Given the description of an element on the screen output the (x, y) to click on. 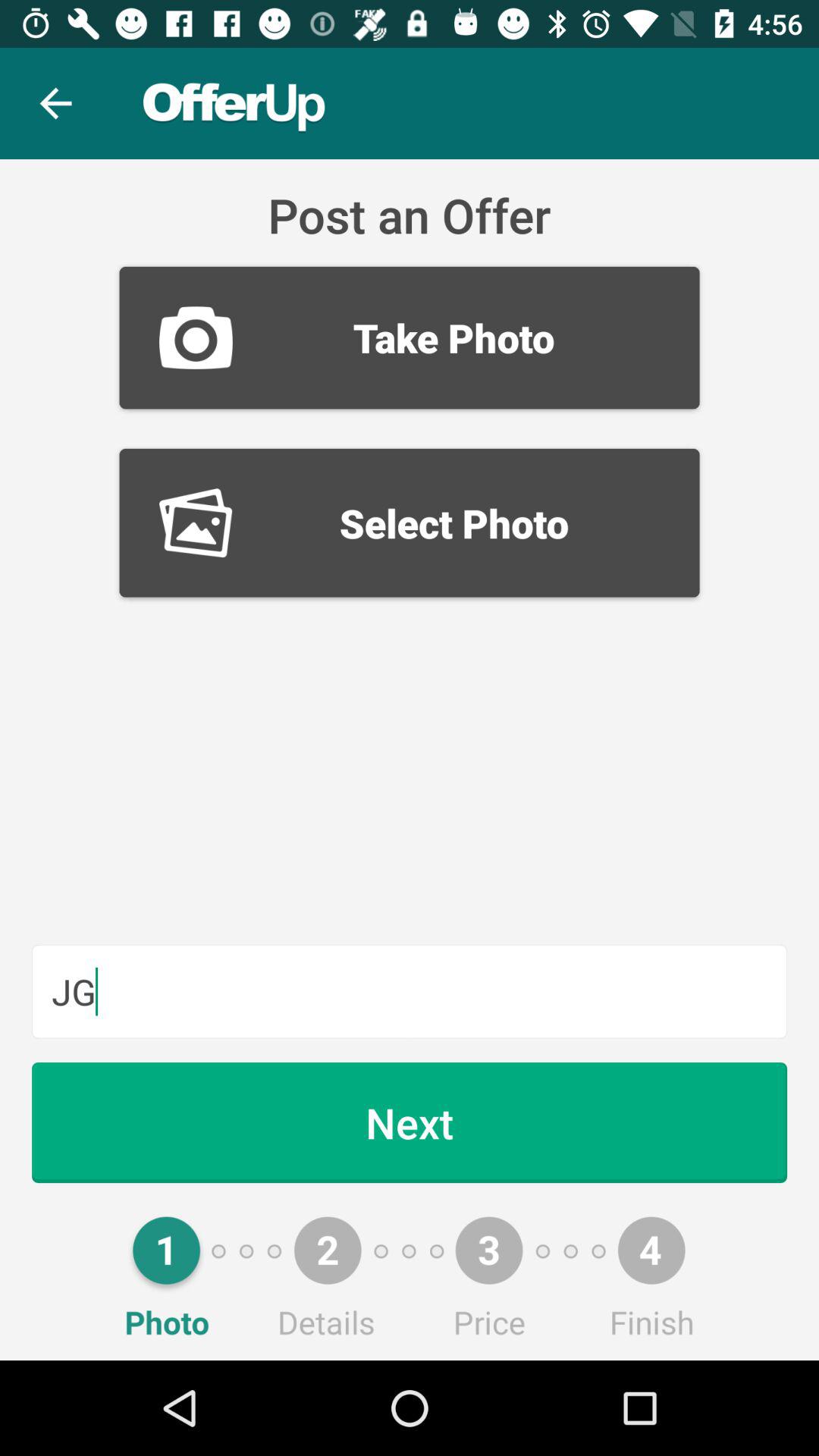
flip until the select photo (409, 522)
